Given the description of an element on the screen output the (x, y) to click on. 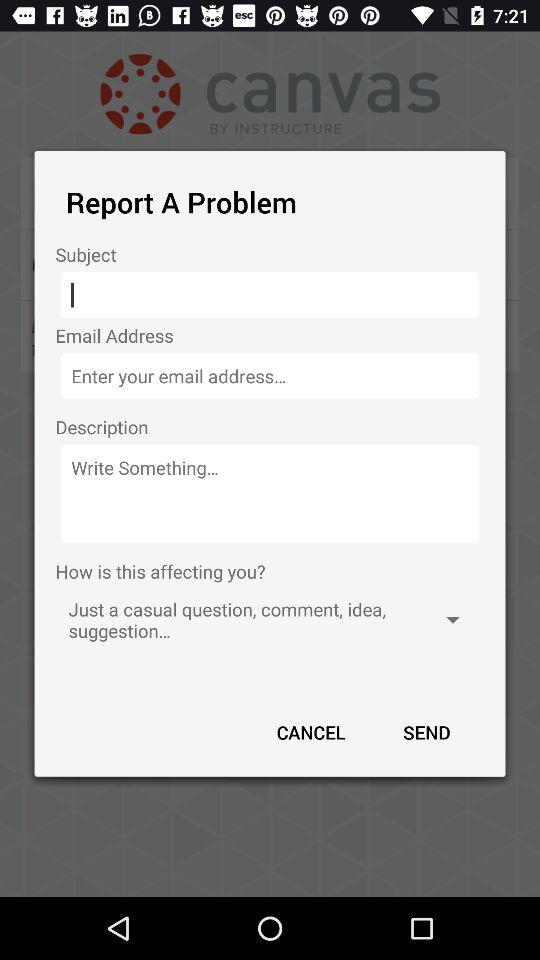
select the cancel icon (311, 732)
